Given the description of an element on the screen output the (x, y) to click on. 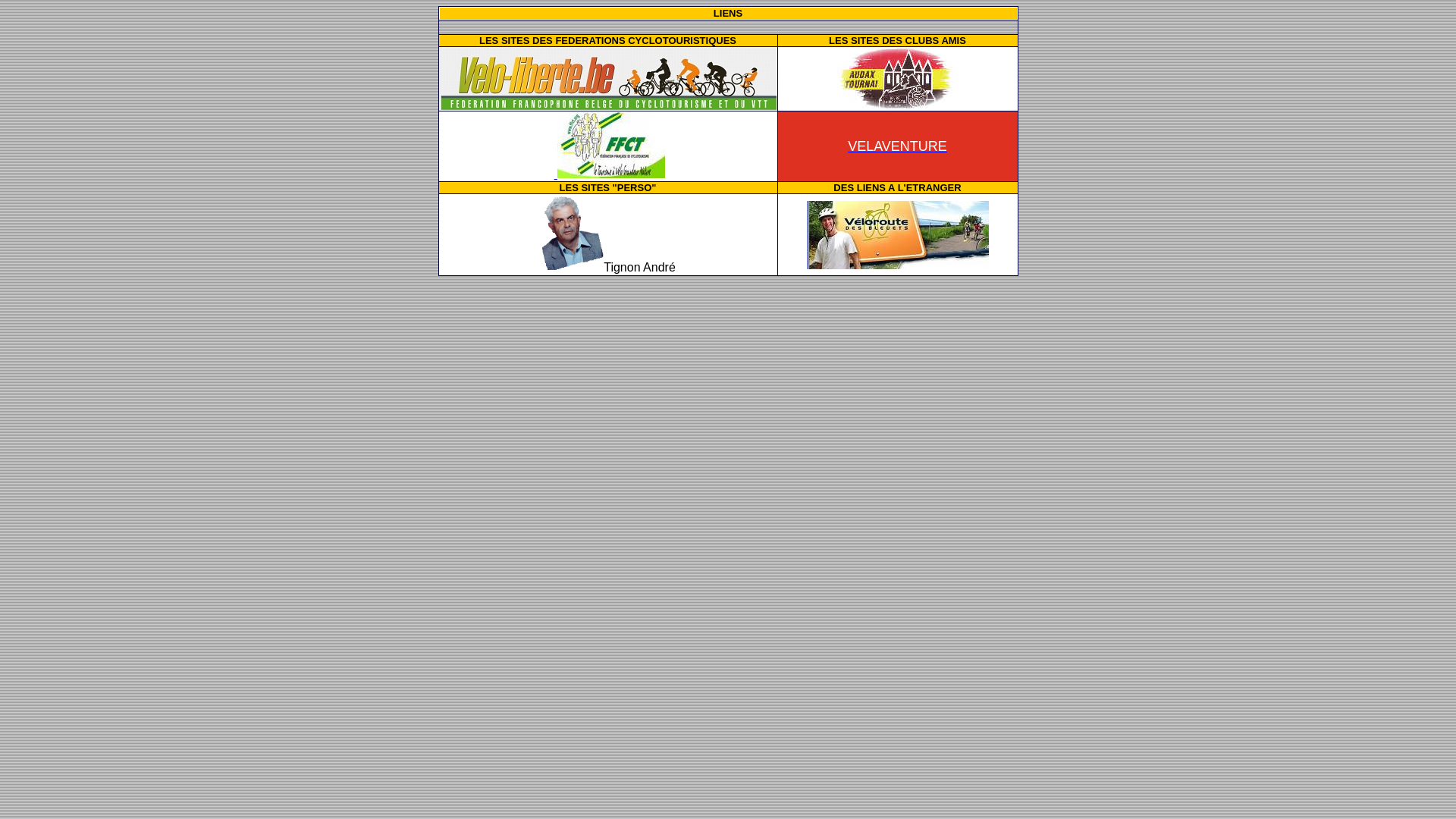
VELAVENTURE Element type: text (897, 145)
